Given the description of an element on the screen output the (x, y) to click on. 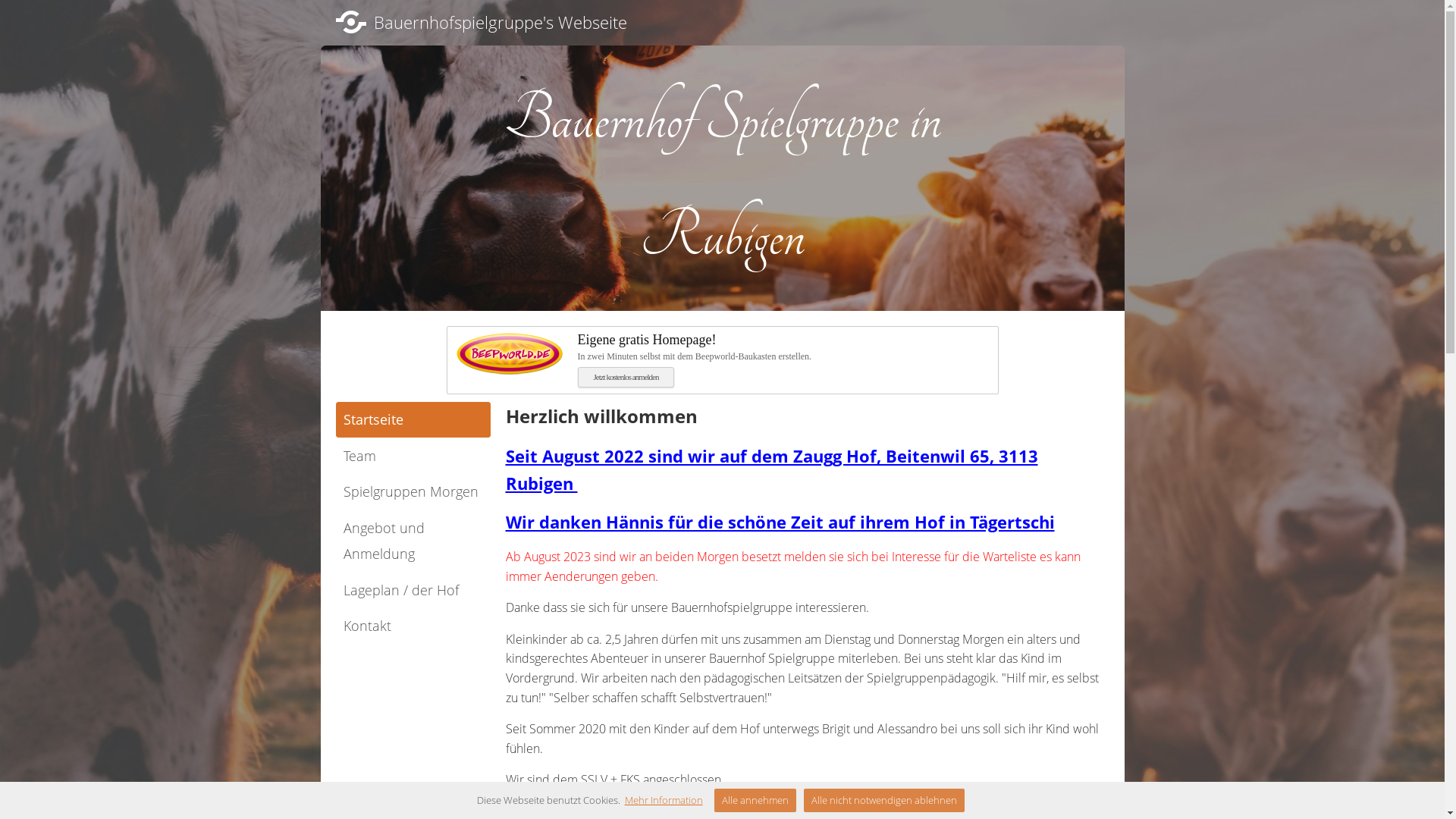
Lageplan / der Hof Element type: text (412, 590)
Angebot und Anmeldung Element type: text (412, 540)
Alle nicht notwendigen ablehnen Element type: text (883, 800)
Mehr Information Element type: text (663, 799)
Kontakt Element type: text (412, 625)
Jetzt kostenlos anmelden Element type: text (625, 377)
Startseite Element type: text (412, 419)
Spielgruppen Morgen Element type: text (412, 491)
Alle annehmen Element type: text (755, 800)
Team Element type: text (412, 455)
